Given the description of an element on the screen output the (x, y) to click on. 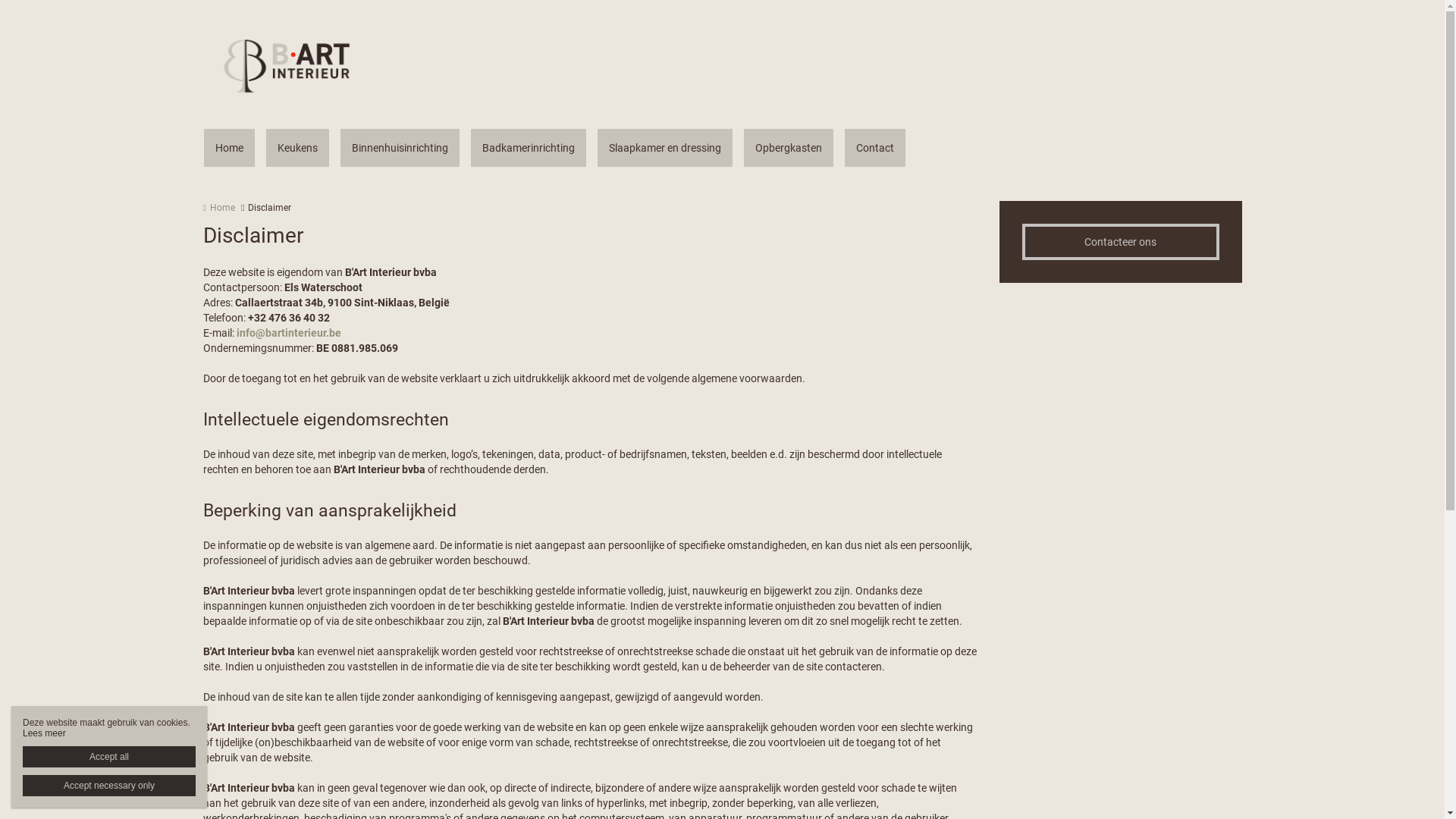
Home Element type: text (219, 207)
Accept all Element type: text (108, 756)
Home | Bart Interieur Element type: hover (309, 64)
Accept necessary only Element type: text (108, 785)
Contact Element type: text (874, 147)
Binnenhuisinrichting Element type: text (398, 147)
Keukens Element type: text (296, 147)
Home | Bart Interieur Element type: hover (286, 64)
Slaapkamer en dressing Element type: text (664, 147)
info@bartinterieur.be Element type: text (288, 332)
Overslaan en naar de inhoud gaan Element type: text (81, 0)
Contacteer ons Element type: text (1120, 241)
Home Element type: text (228, 147)
Opbergkasten Element type: text (787, 147)
Lees meer Element type: text (43, 733)
Badkamerinrichting Element type: text (527, 147)
